Given the description of an element on the screen output the (x, y) to click on. 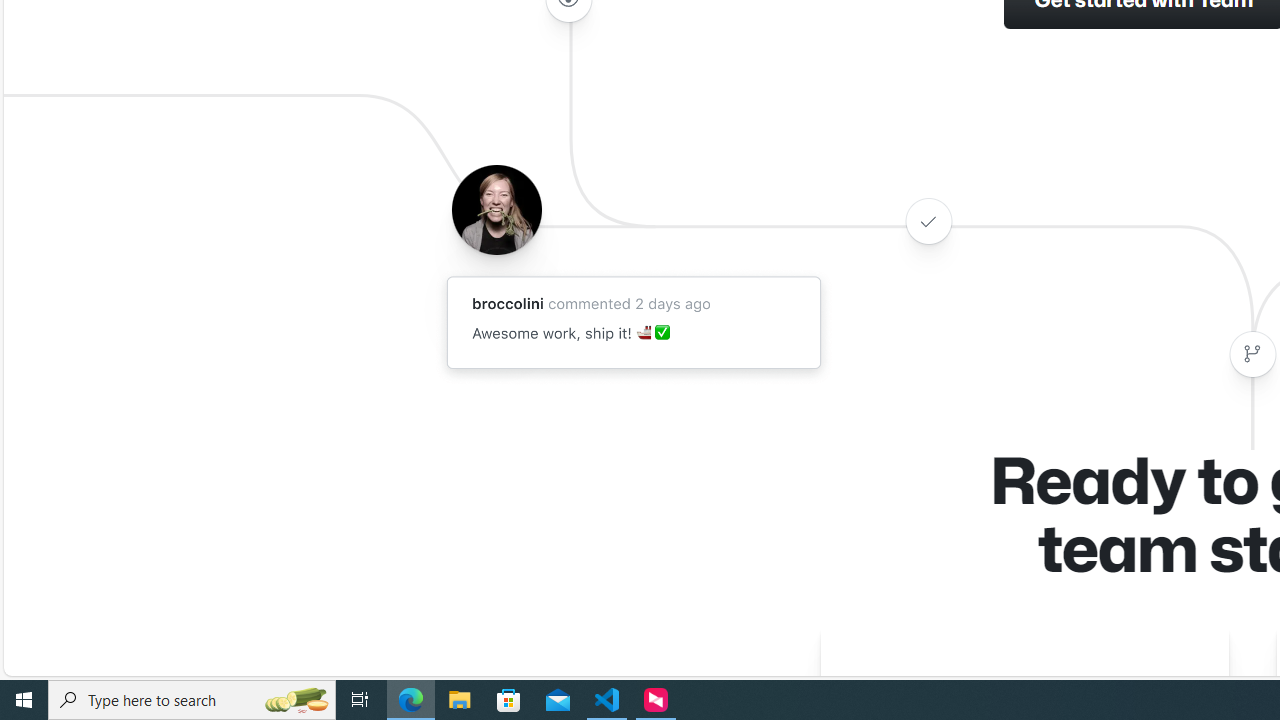
Class: color-fg-muted width-full (1252, 354)
Avatar of the user broccolini (495, 209)
